Given the description of an element on the screen output the (x, y) to click on. 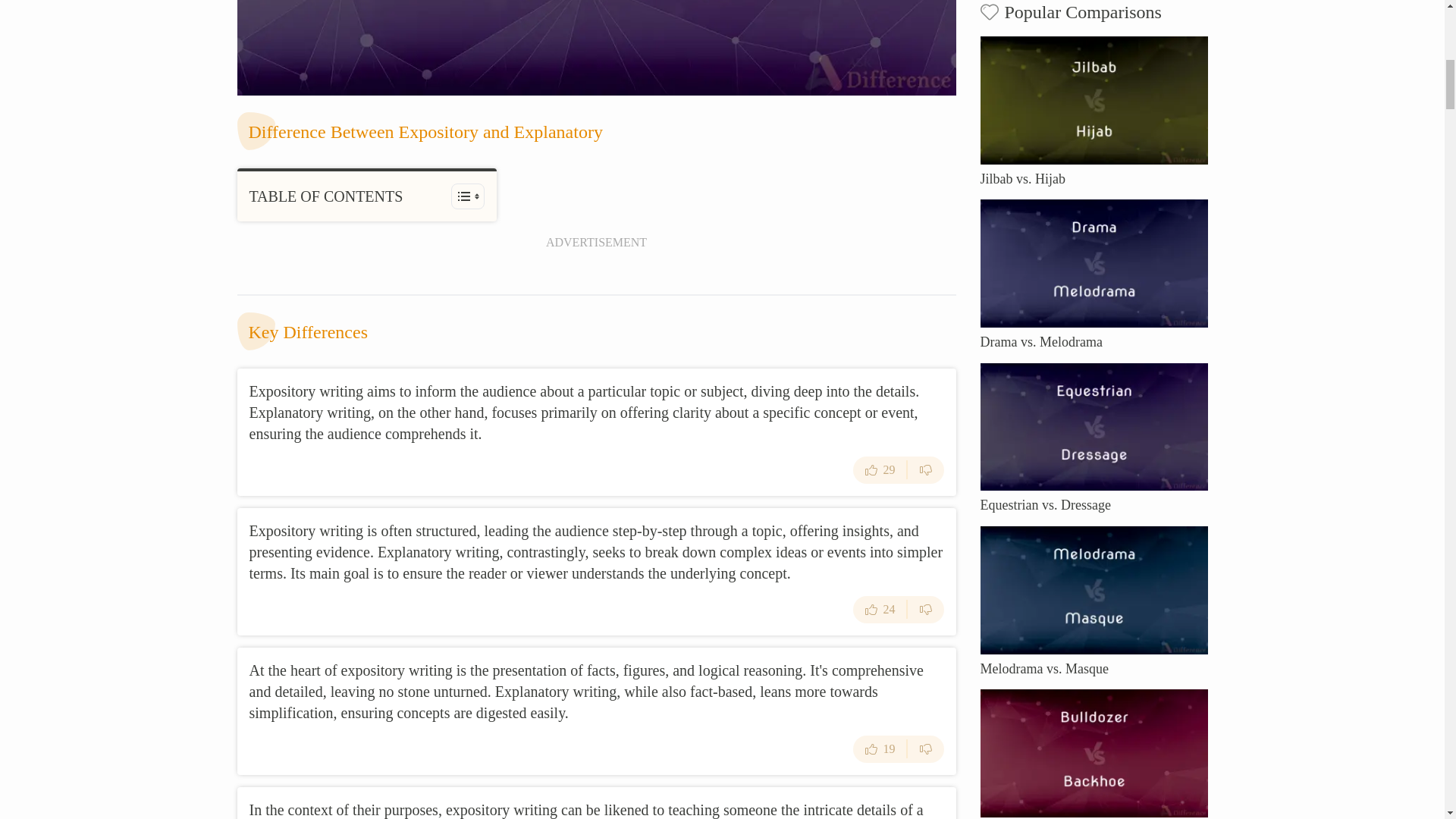
24 (879, 609)
29 (879, 470)
19 (879, 748)
